Given the description of an element on the screen output the (x, y) to click on. 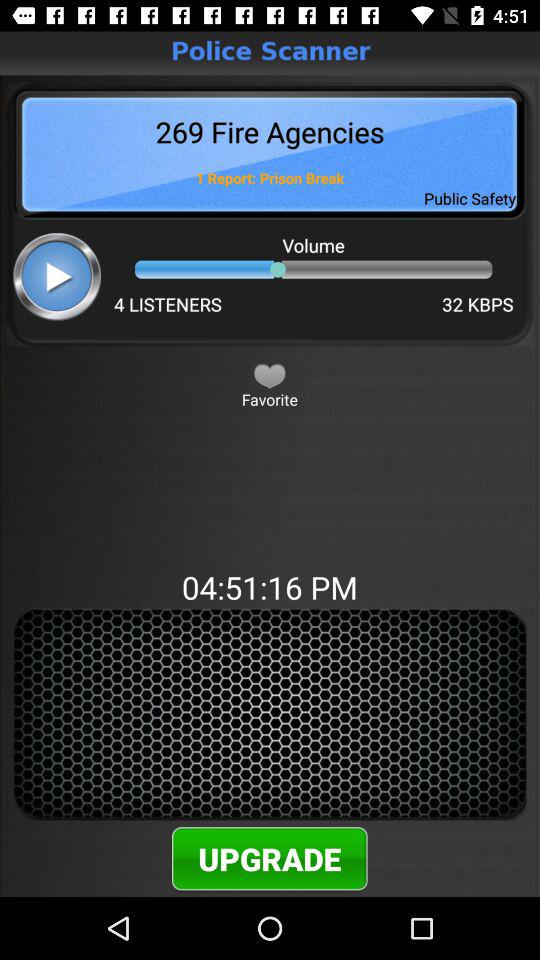
play song (56, 276)
